Given the description of an element on the screen output the (x, y) to click on. 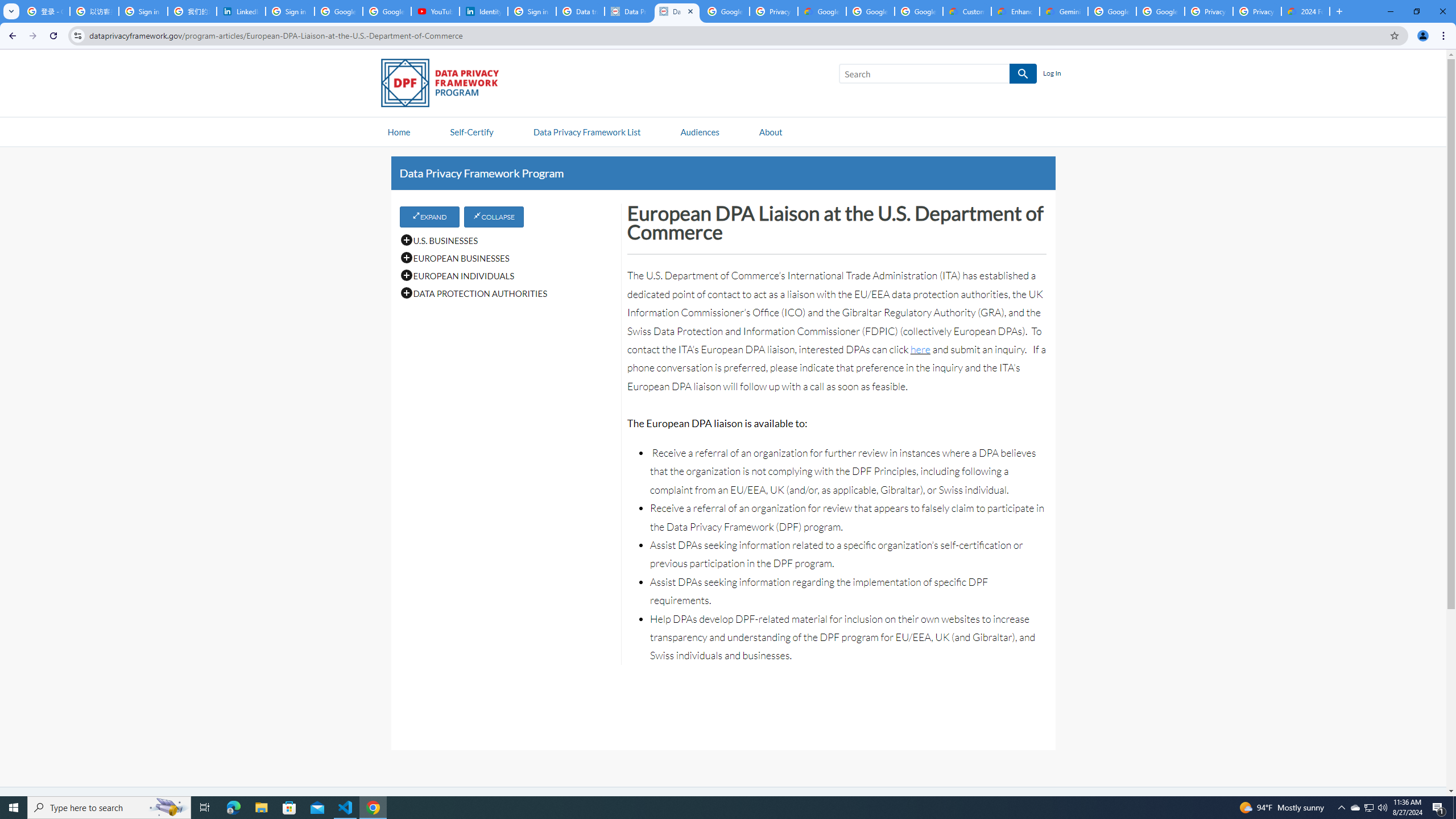
Search SEARCH (937, 75)
Google Cloud Terms Directory | Google Cloud (822, 11)
Home (398, 131)
About (769, 131)
AutomationID: navitem2 (769, 131)
Data Privacy Framework List (586, 131)
Gemini for Business and Developers | Google Cloud (1064, 11)
